Given the description of an element on the screen output the (x, y) to click on. 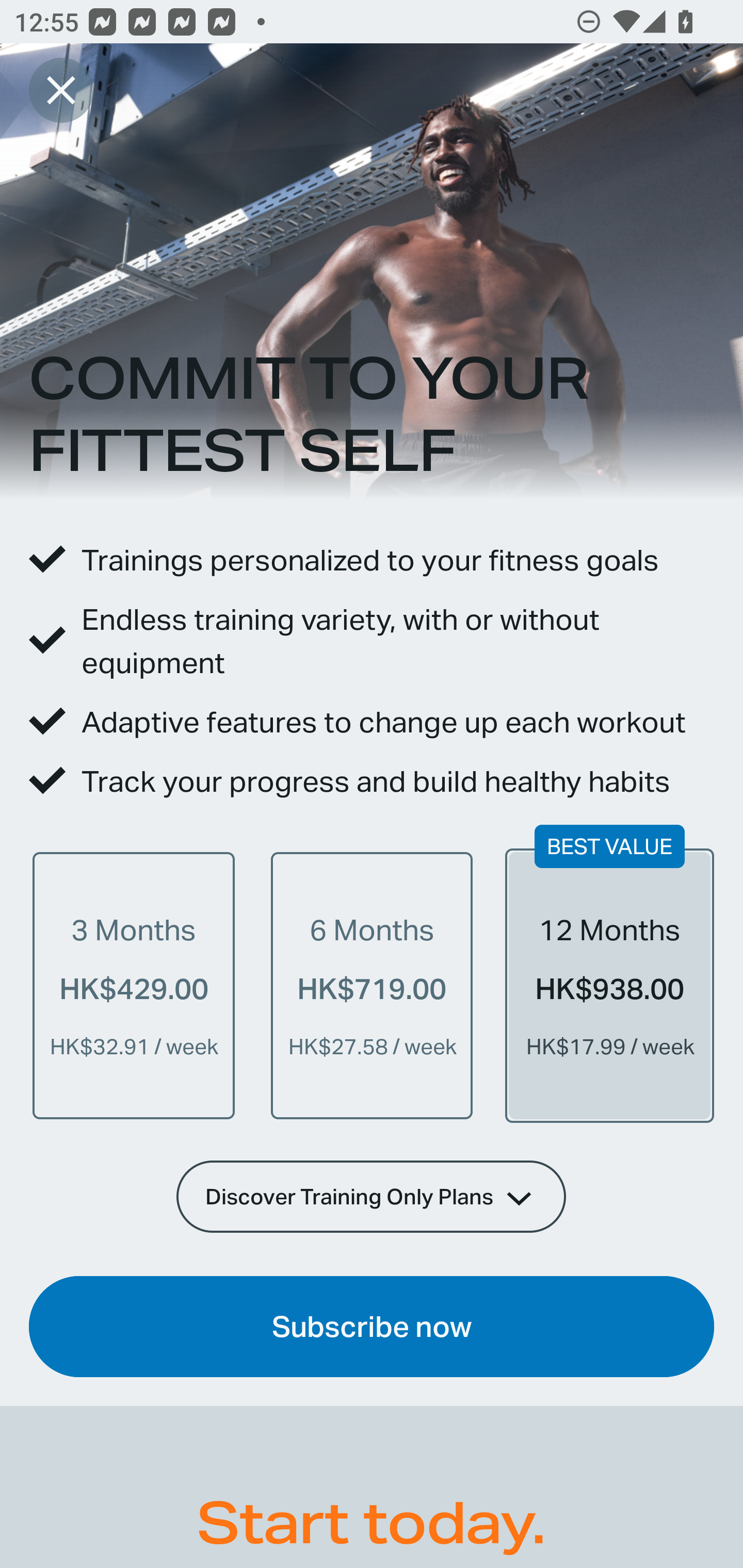
Close (60, 90)
3 Months HK$429.00 HK$32.91 / week (133, 985)
6 Months HK$719.00 HK$27.58 / week (371, 985)
12 Months HK$938.00 HK$17.99 / week (609, 985)
Discover Training Only Plans (371, 1196)
Subscribe now (371, 1326)
